Given the description of an element on the screen output the (x, y) to click on. 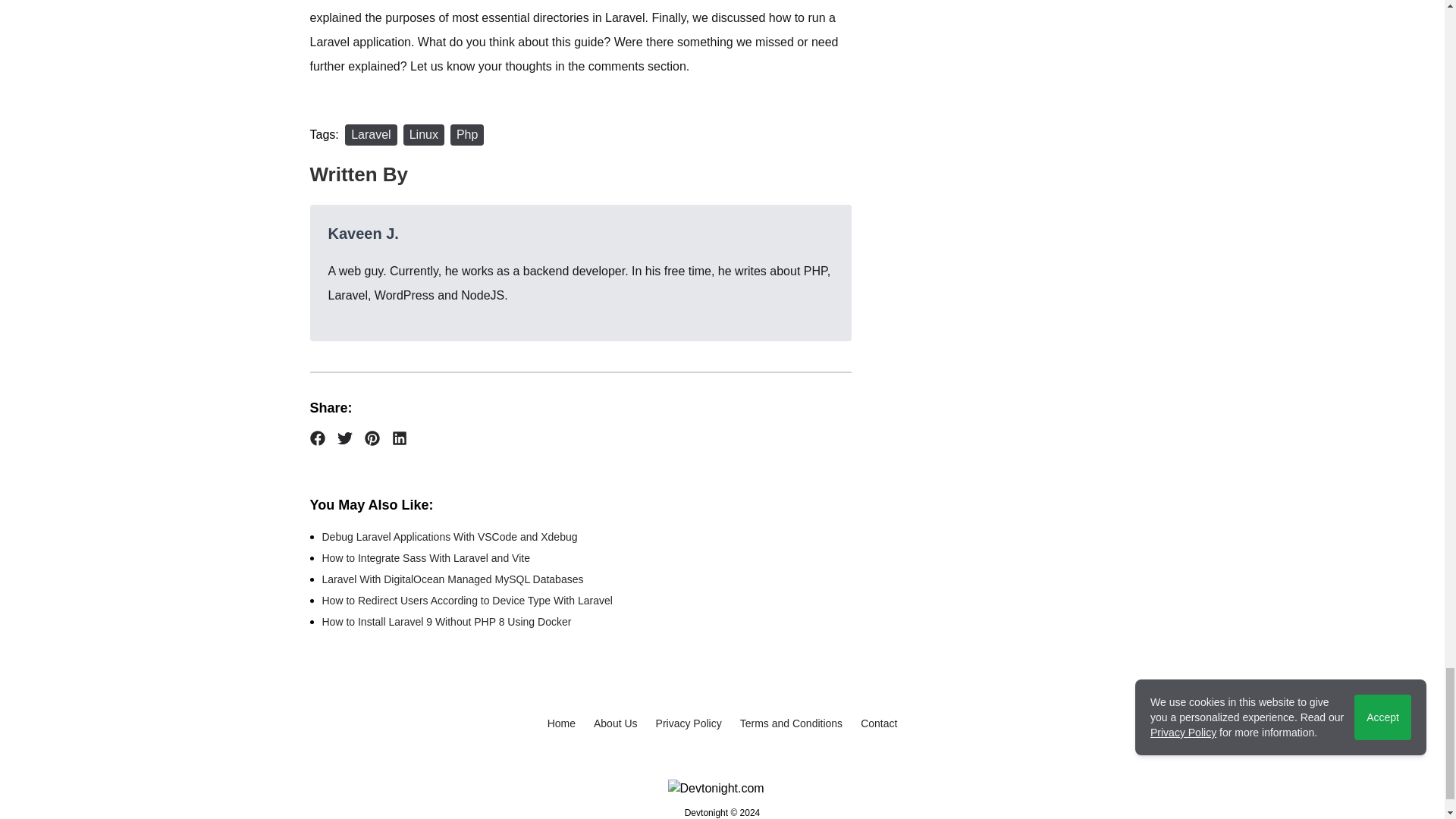
Debug Laravel Applications With VSCode and Xdebug (448, 536)
Linux (423, 134)
Pinterest (371, 437)
Facebook (316, 437)
How to Integrate Sass With Laravel and Vite (425, 558)
Twitter (344, 437)
Laravel (370, 134)
Linkedin (398, 437)
Kaveen J. (362, 233)
Php (466, 134)
